Given the description of an element on the screen output the (x, y) to click on. 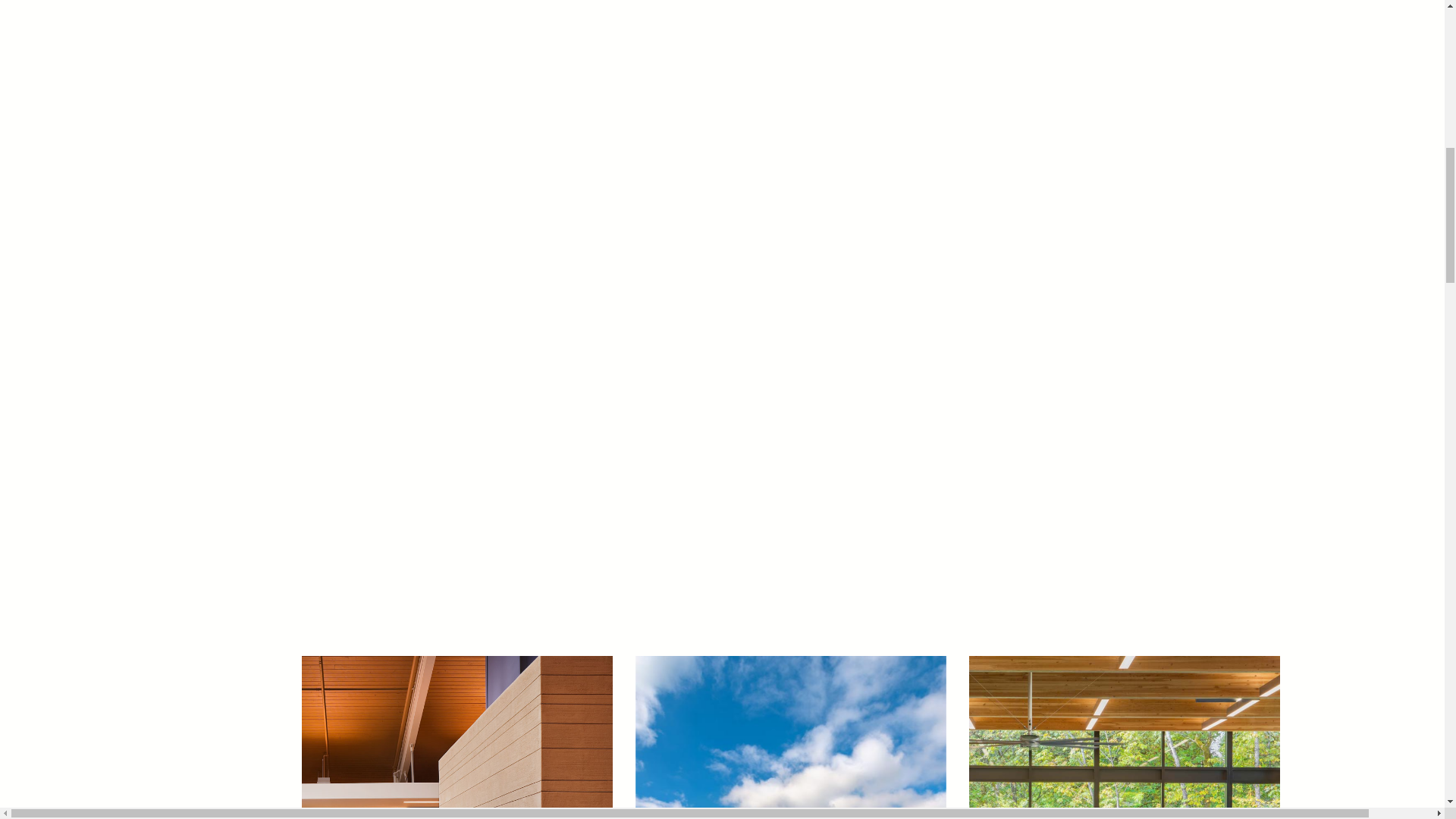
Dallas High School CTE Building (1124, 737)
Hallinan Elementary School (790, 737)
Meadow Ridge Elementary School (456, 737)
